Given the description of an element on the screen output the (x, y) to click on. 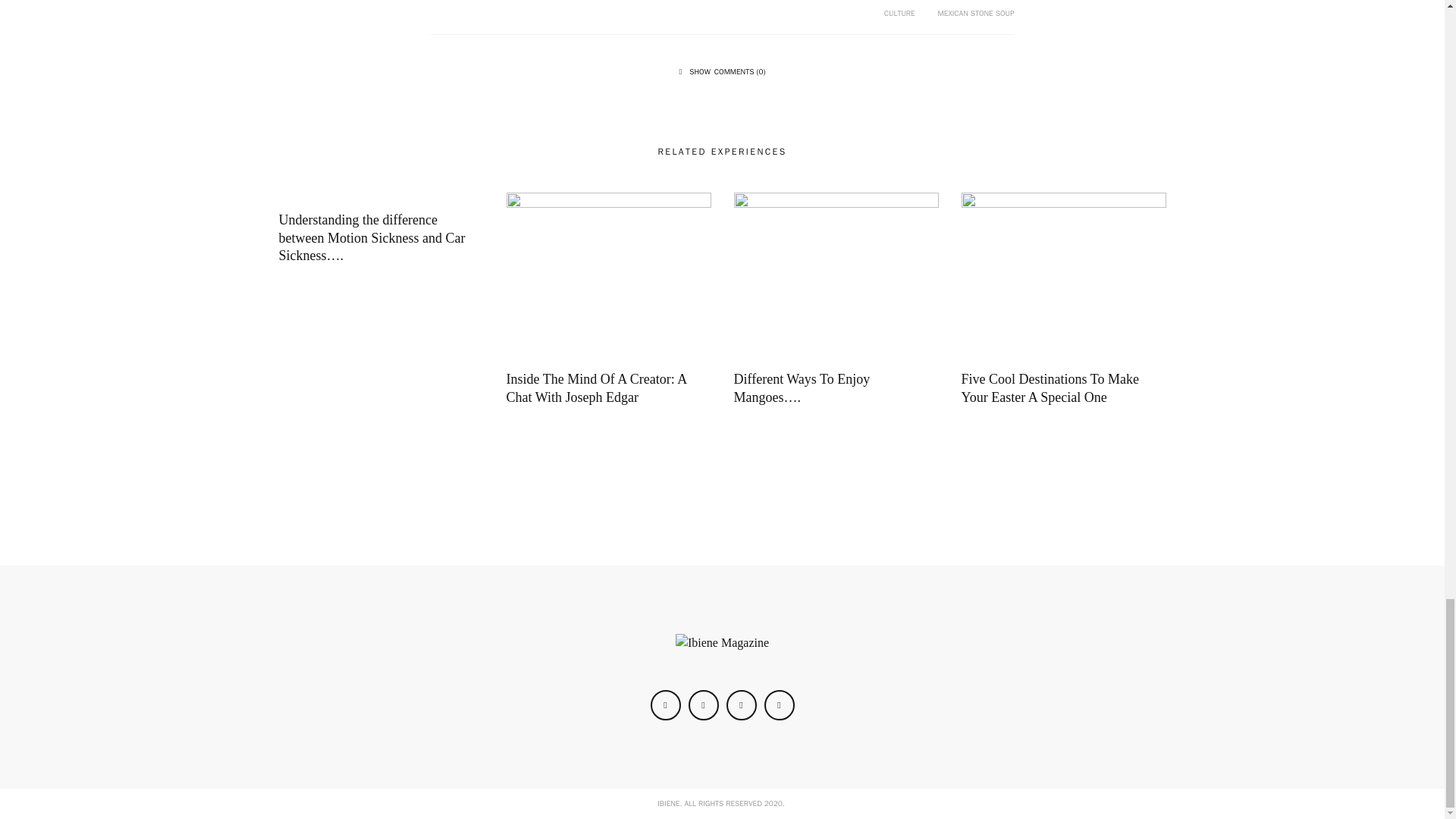
Inside The Mind Of A Creator: A Chat With Joseph Edgar (608, 272)
Inside The Mind Of A Creator: A Chat With Joseph Edgar (596, 387)
CULTURE (899, 12)
MEXICAN STONE SOUP (975, 12)
